Given the description of an element on the screen output the (x, y) to click on. 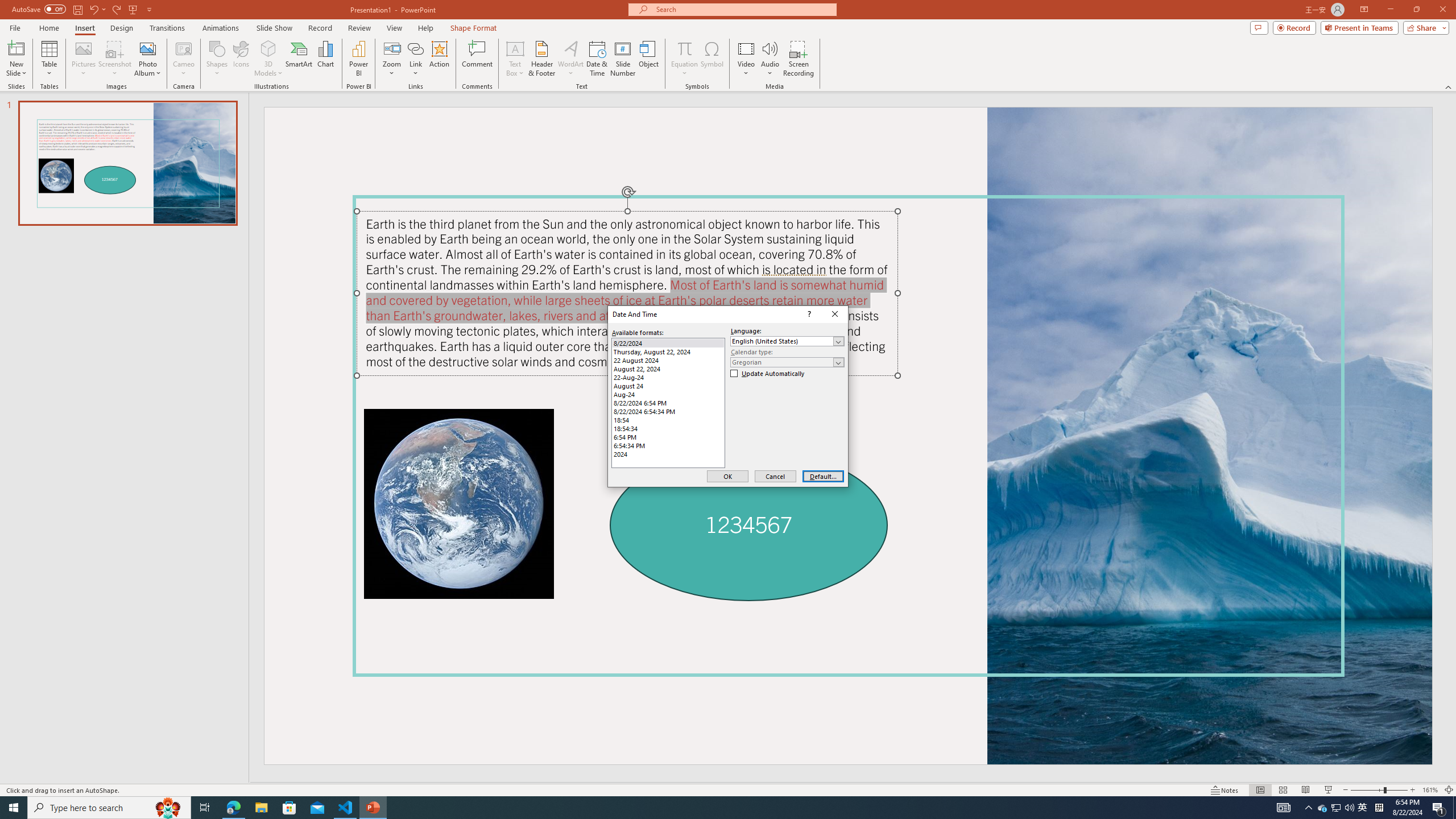
Symbol... (711, 58)
Comment (476, 58)
22 August 2024 (667, 360)
3D Models (268, 58)
Microsoft Store (289, 807)
Type here to search (108, 807)
Equation (683, 58)
6:54:34 PM (667, 445)
